Given the description of an element on the screen output the (x, y) to click on. 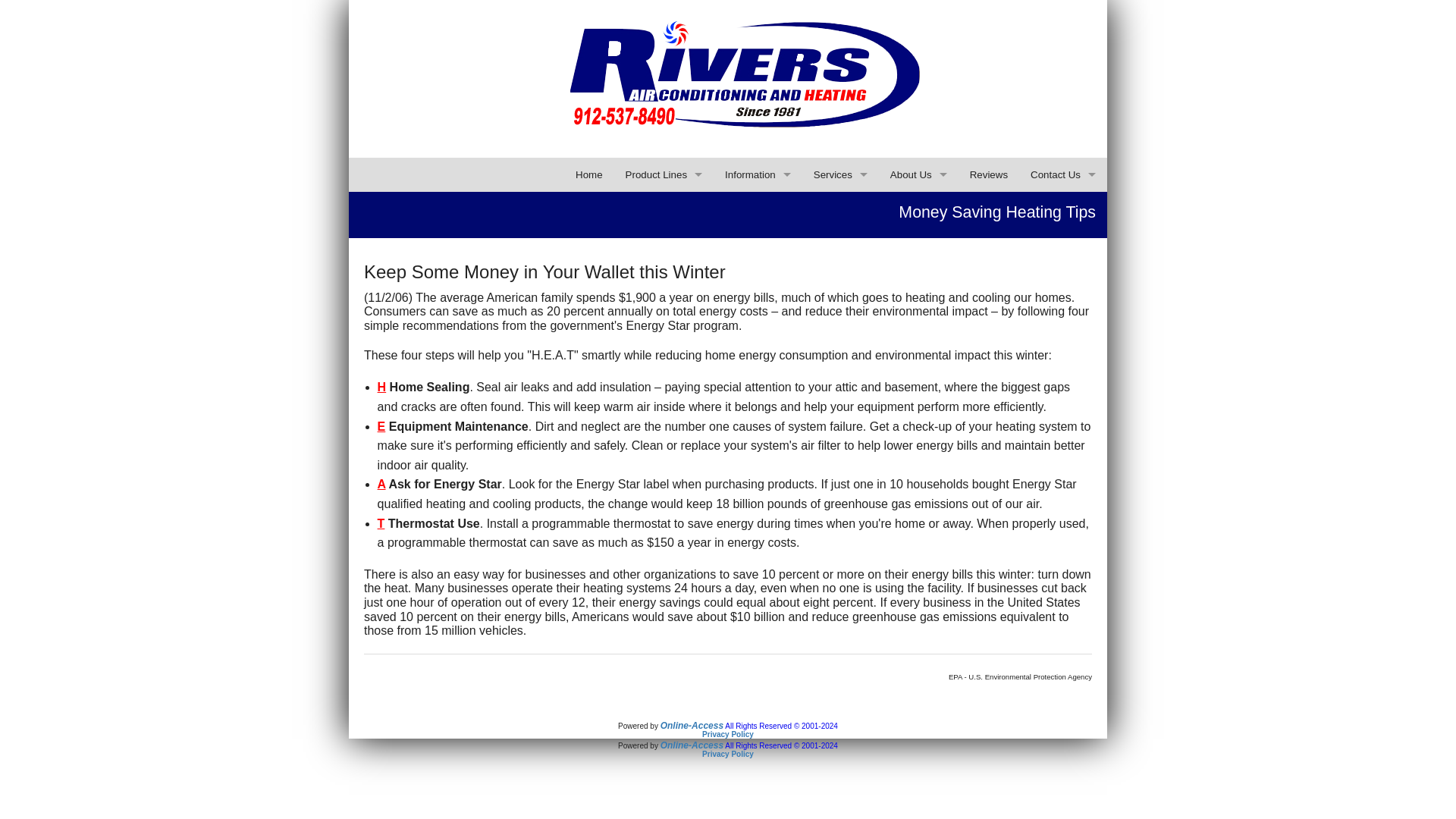
Limitations When Replacing Existing Heating Systems (670, 449)
Honeywell Full Product Line (663, 277)
Sizing Heating and Cooling Systems (670, 415)
White Rogers Thermostats (663, 209)
Maintenance Checklist (670, 380)
Replacement System Considerations (670, 312)
Money Saving Heating Tips (670, 244)
Selecting an HVAC Contractor (670, 210)
Home (589, 174)
Information (757, 174)
Product Lines (664, 174)
Interpreting the Sound Ratings of a Unit (670, 483)
General Information (758, 209)
